Given the description of an element on the screen output the (x, y) to click on. 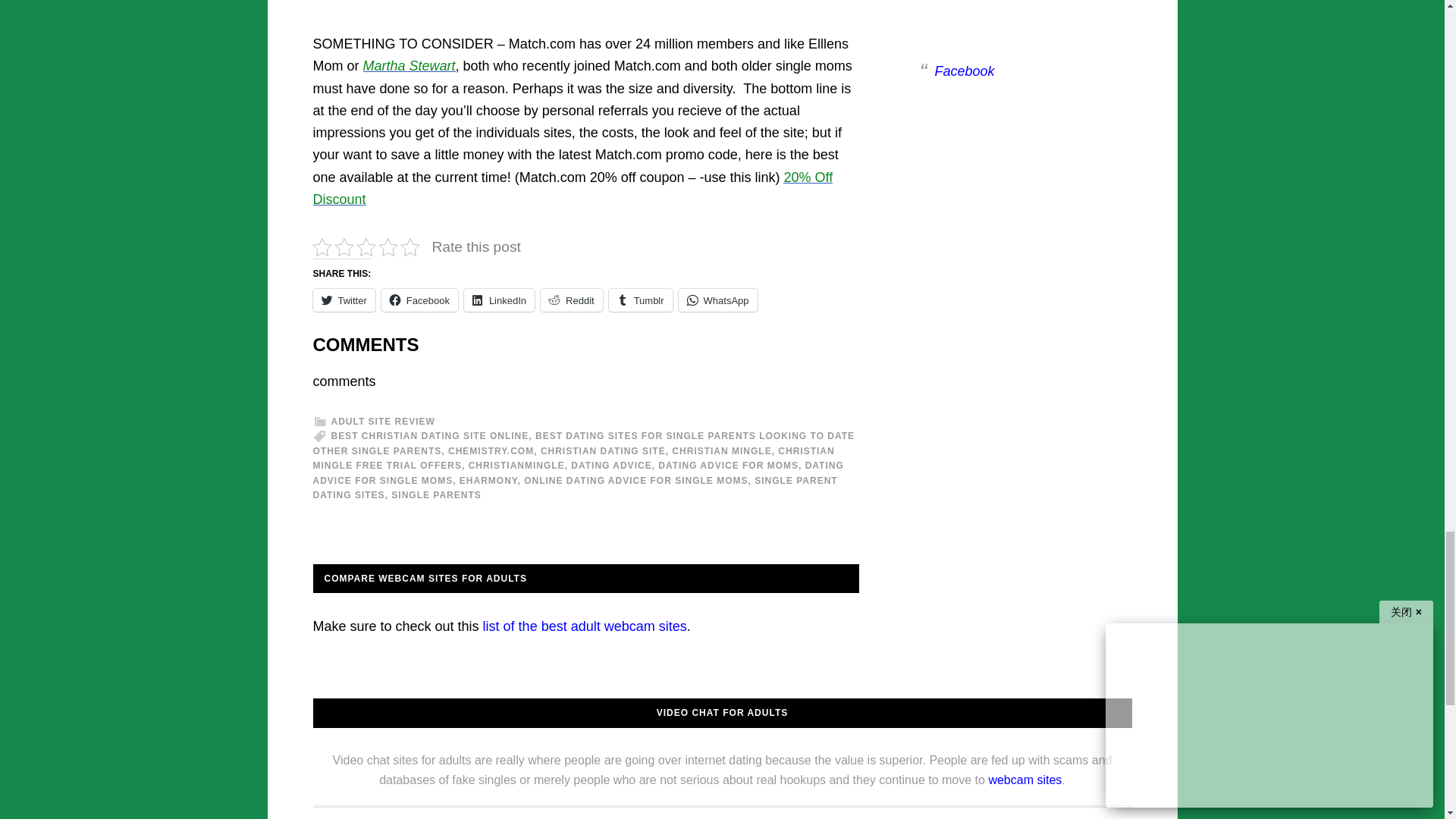
Click to share on LinkedIn (499, 300)
Click to share on Tumblr (640, 300)
Facebook (419, 300)
LinkedIn (499, 300)
Click to share on Reddit (571, 300)
Twitter (343, 300)
Reddit (571, 300)
Click to share on Twitter (343, 300)
ADULT SITE REVIEW (381, 421)
